Given the description of an element on the screen output the (x, y) to click on. 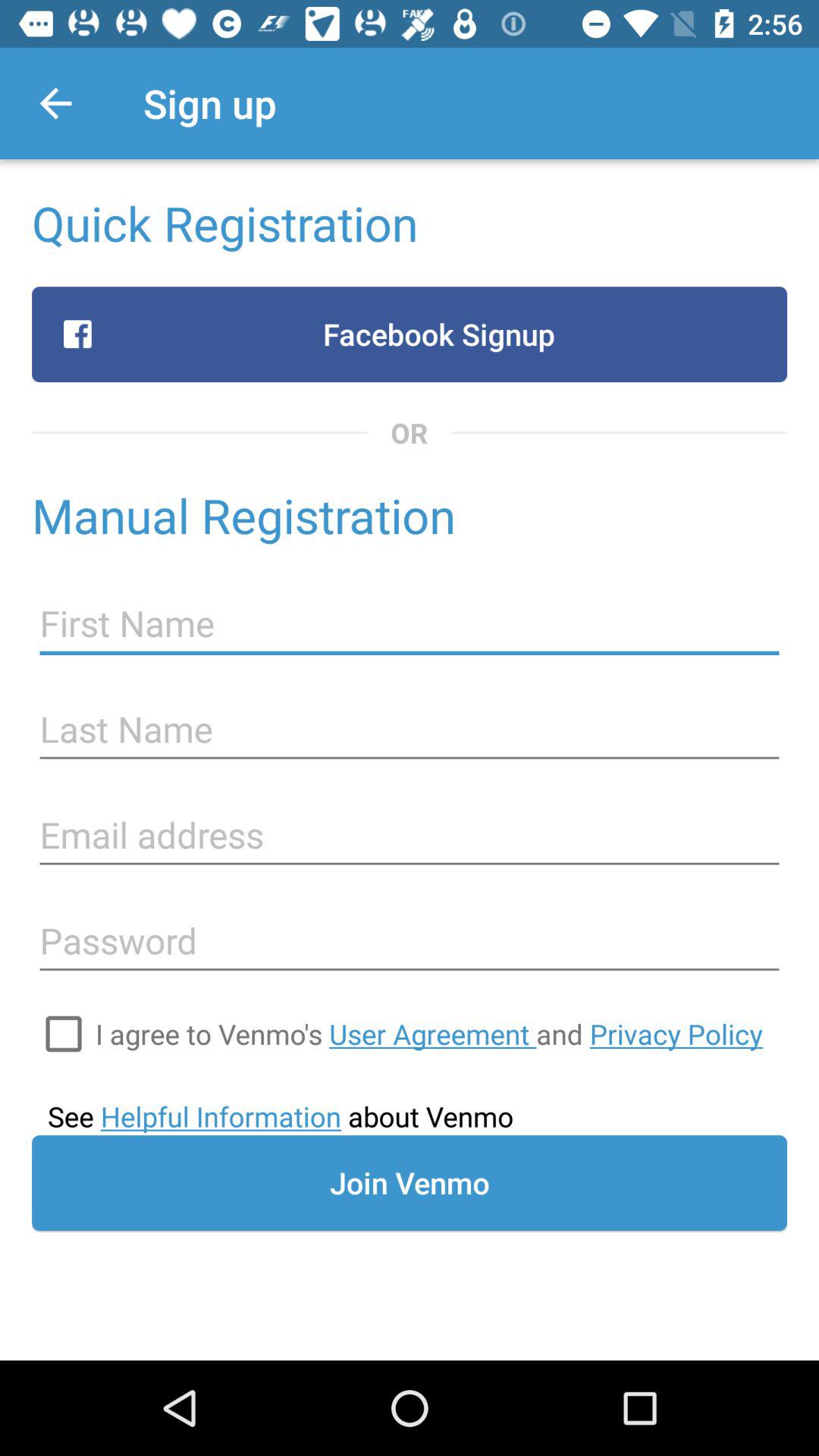
open the facebook signup (409, 334)
